Given the description of an element on the screen output the (x, y) to click on. 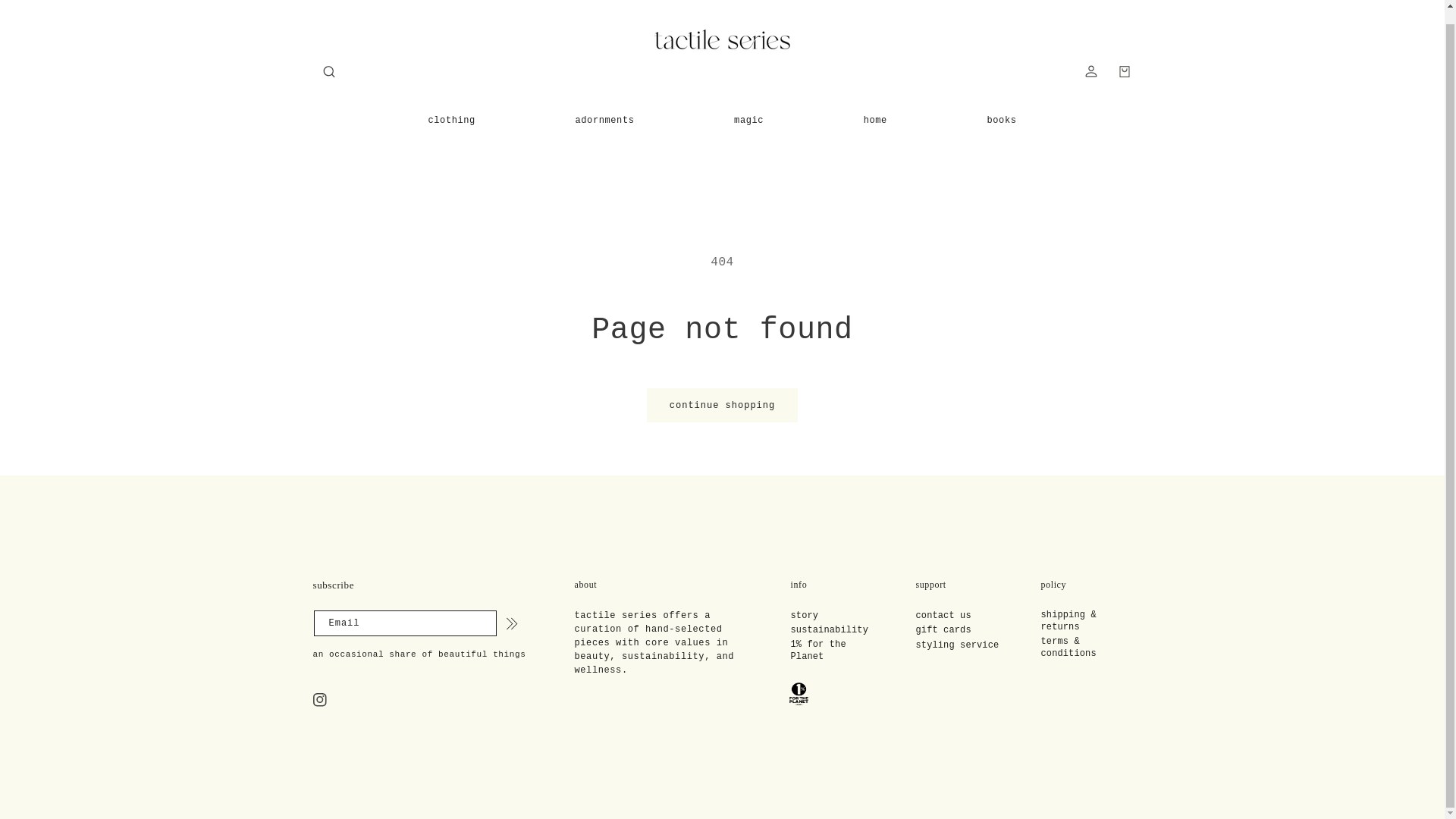
contact us (943, 615)
skip to content (45, 9)
continue shopping (721, 405)
gift cards (943, 630)
story (804, 615)
home (875, 120)
Log in (1090, 70)
styling service (956, 645)
books (1000, 120)
clothing (451, 120)
